Given the description of an element on the screen output the (x, y) to click on. 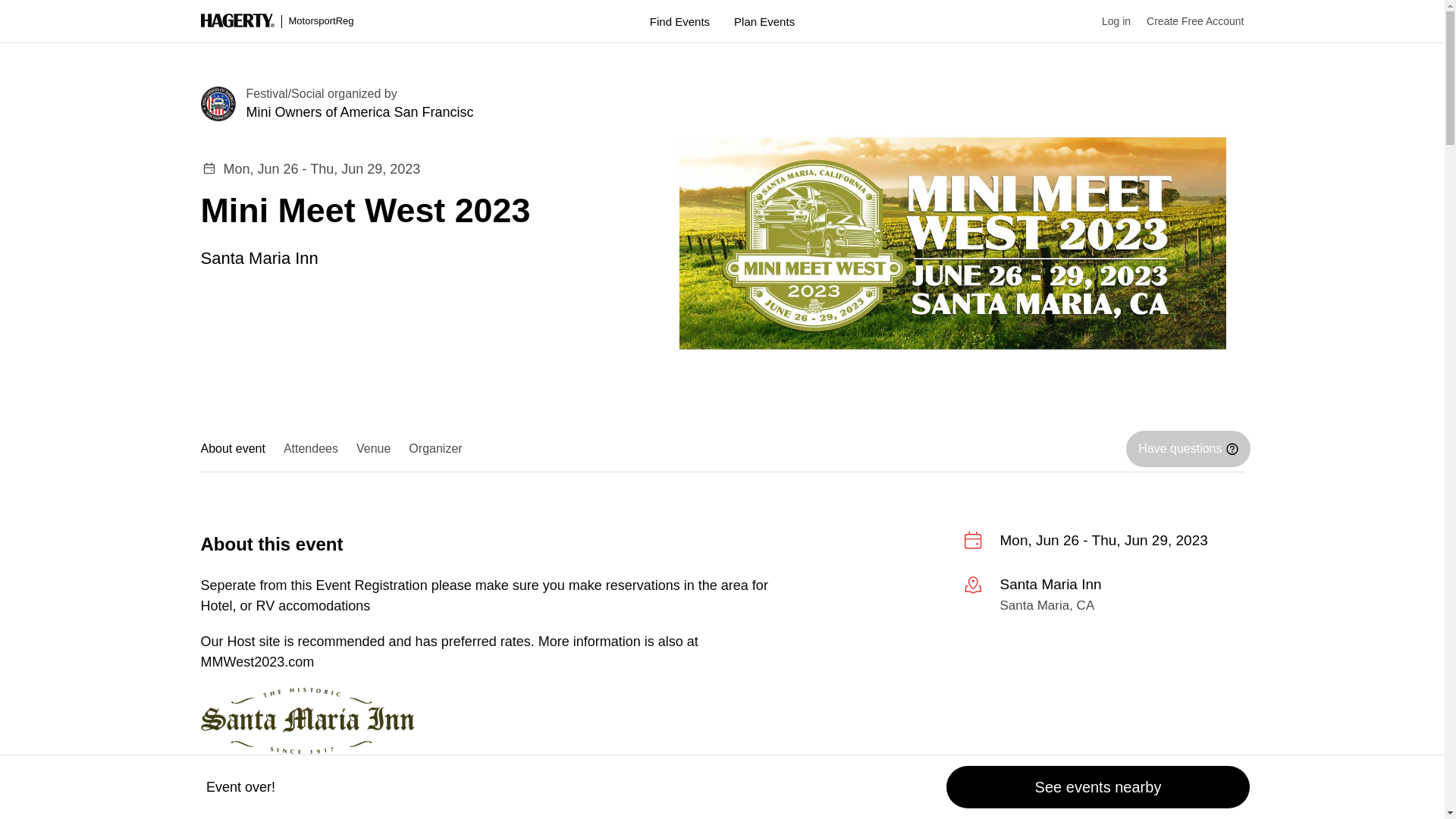
About event (236, 449)
Plan Events (764, 21)
Log in (1108, 21)
More info (1102, 597)
MotorsportReg (276, 21)
Santa Maria Inn (258, 256)
Venue (372, 449)
Attendees (311, 449)
Organizer (434, 449)
Mini Owners of America San Francisc (435, 112)
Find Events (679, 21)
See events nearby (1097, 787)
Create Free Account (1187, 21)
Have questions (1187, 448)
